Given the description of an element on the screen output the (x, y) to click on. 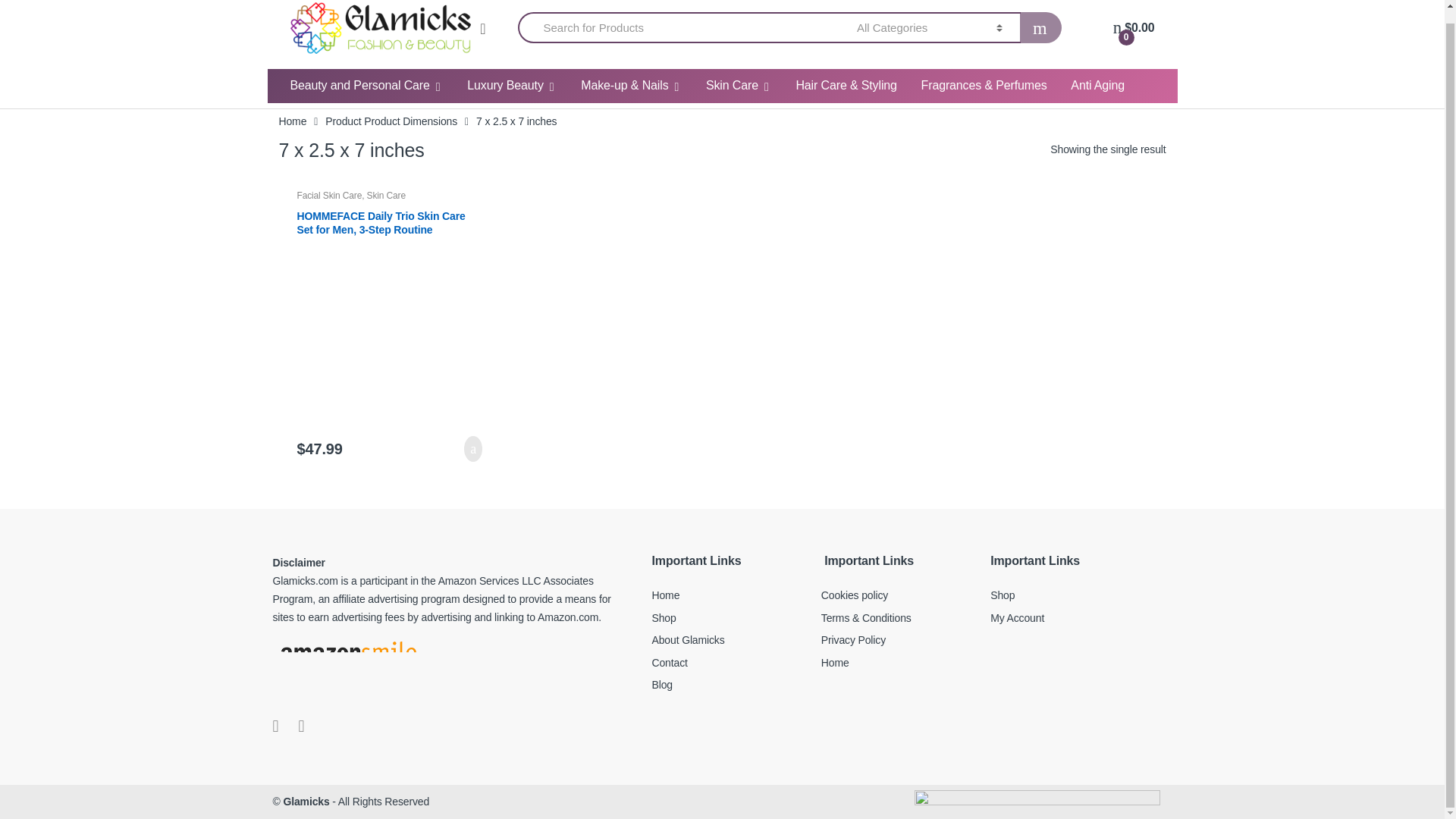
Luxury Beauty (511, 85)
Beauty and Personal Care (365, 85)
Skin Care (738, 85)
Beauty and Personal Care (365, 85)
